Given the description of an element on the screen output the (x, y) to click on. 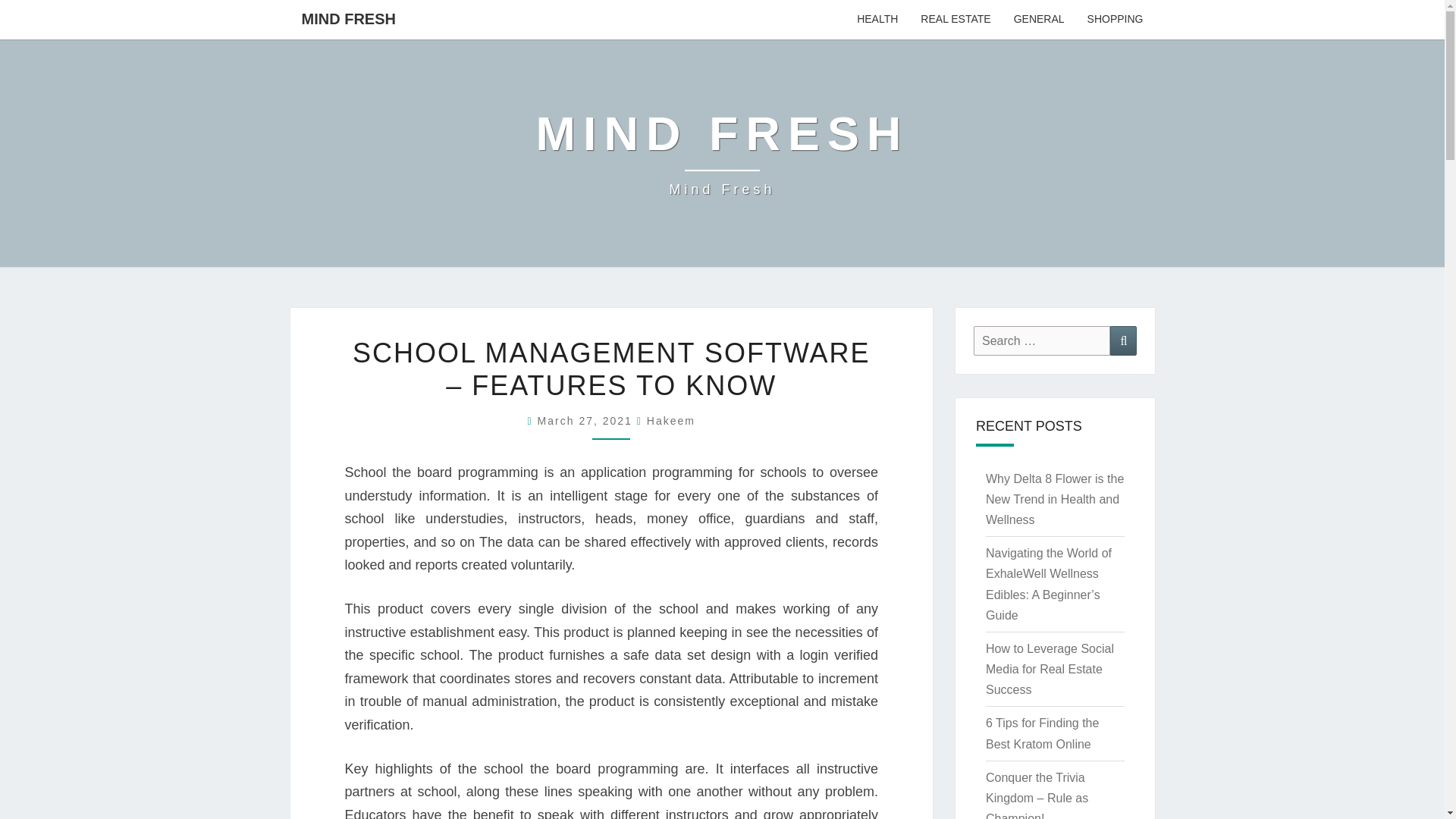
4:35 am (587, 420)
How to Leverage Social Media for Real Estate Success (1049, 669)
6 Tips for Finding the Best Kratom Online (1042, 733)
Mind fresh (721, 152)
Why Delta 8 Flower is the New Trend in Health and Wellness (1054, 499)
SHOPPING (1114, 19)
View all posts by Hakeem (670, 420)
HEALTH (876, 19)
REAL ESTATE (954, 19)
March 27, 2021 (587, 420)
MIND FRESH (721, 152)
Search for: (347, 18)
Search (1041, 340)
GENERAL (1123, 340)
